Given the description of an element on the screen output the (x, y) to click on. 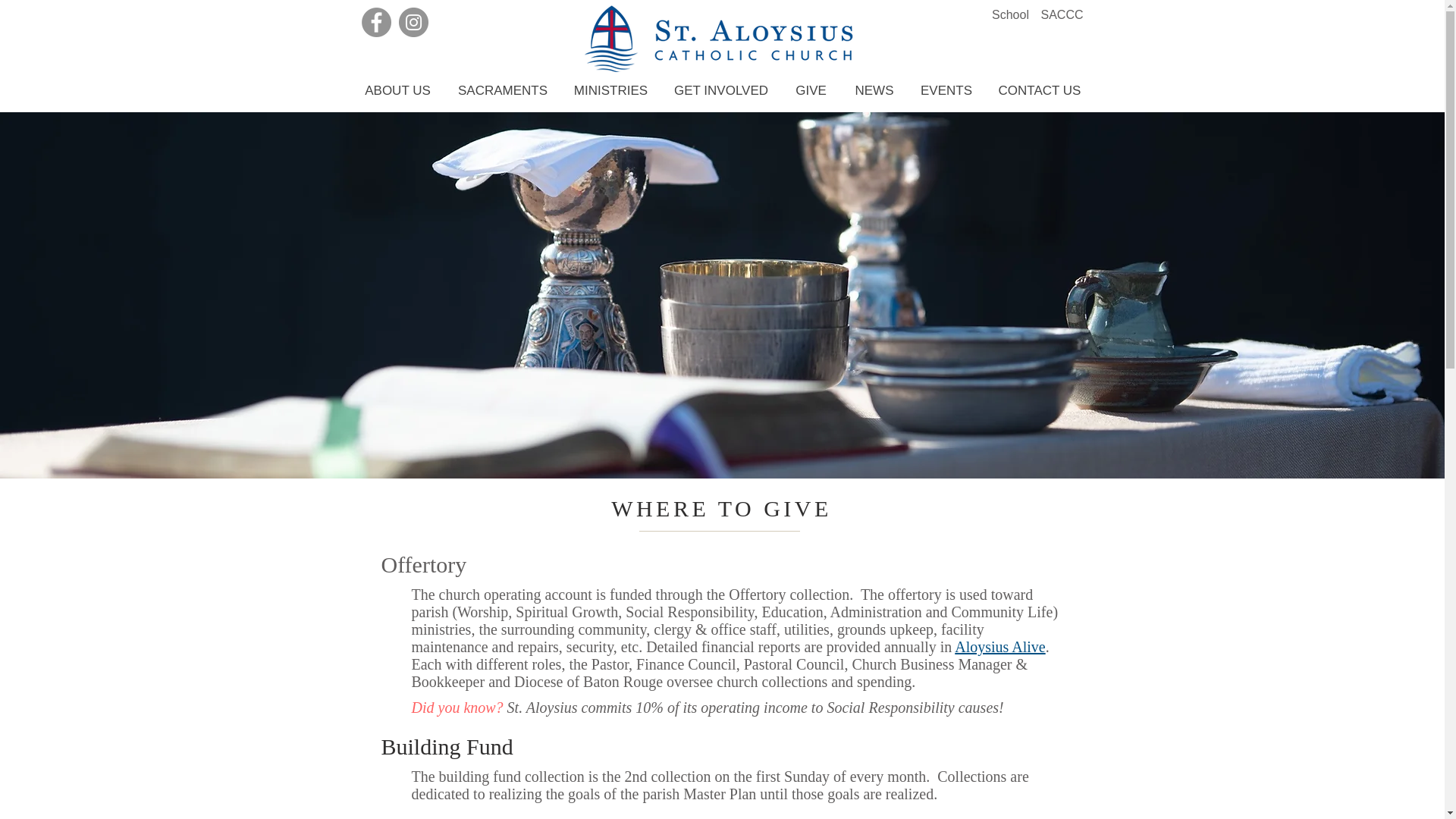
SACCC (1061, 15)
School (1009, 15)
